Given the description of an element on the screen output the (x, y) to click on. 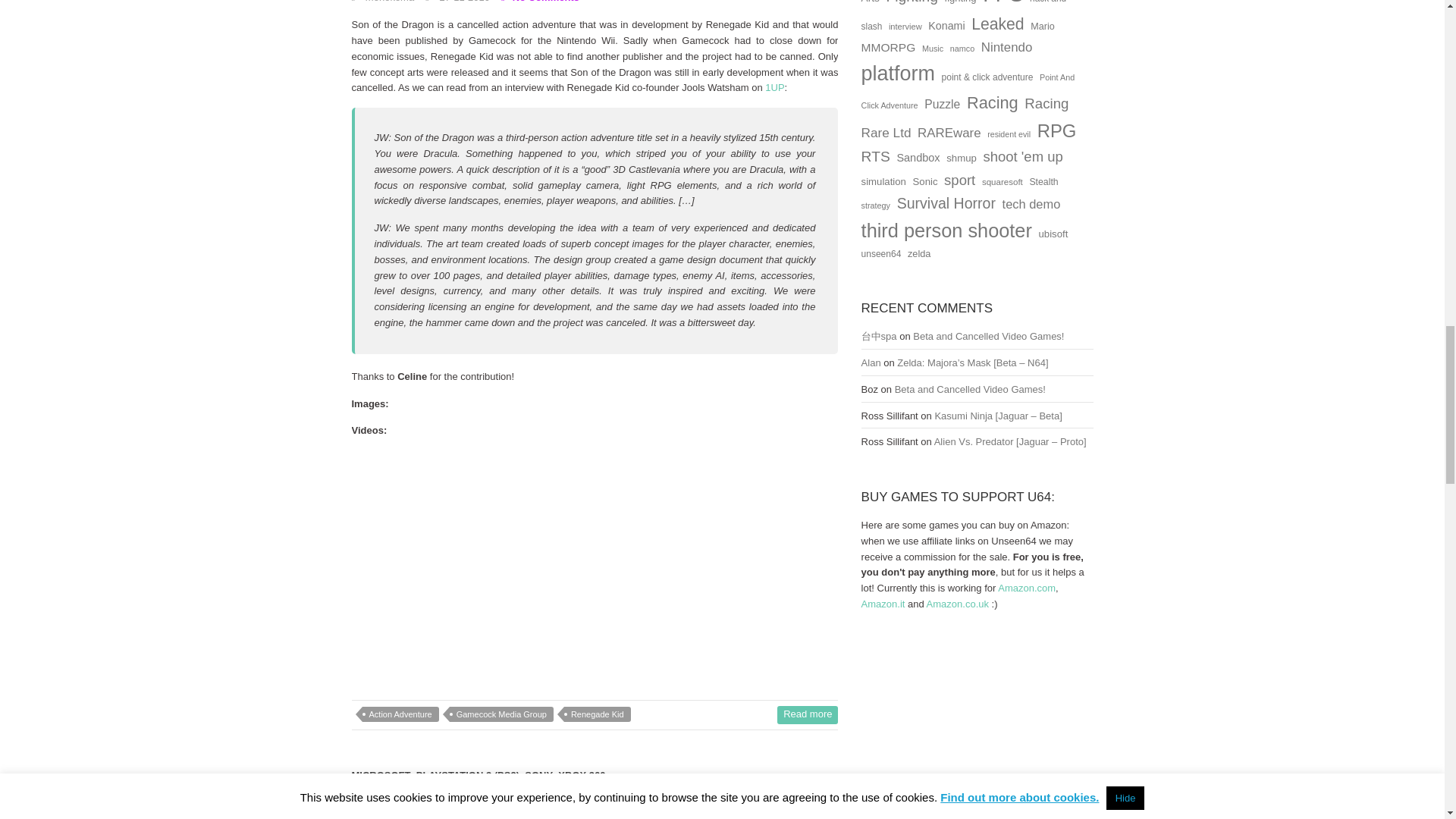
1UP (774, 87)
08:06 (457, 818)
monokoma (383, 1)
Action Adventure (400, 713)
08:49 (457, 1)
Gamecock Media Group (501, 713)
No Comments (539, 1)
27-11-2010 (457, 1)
